Given the description of an element on the screen output the (x, y) to click on. 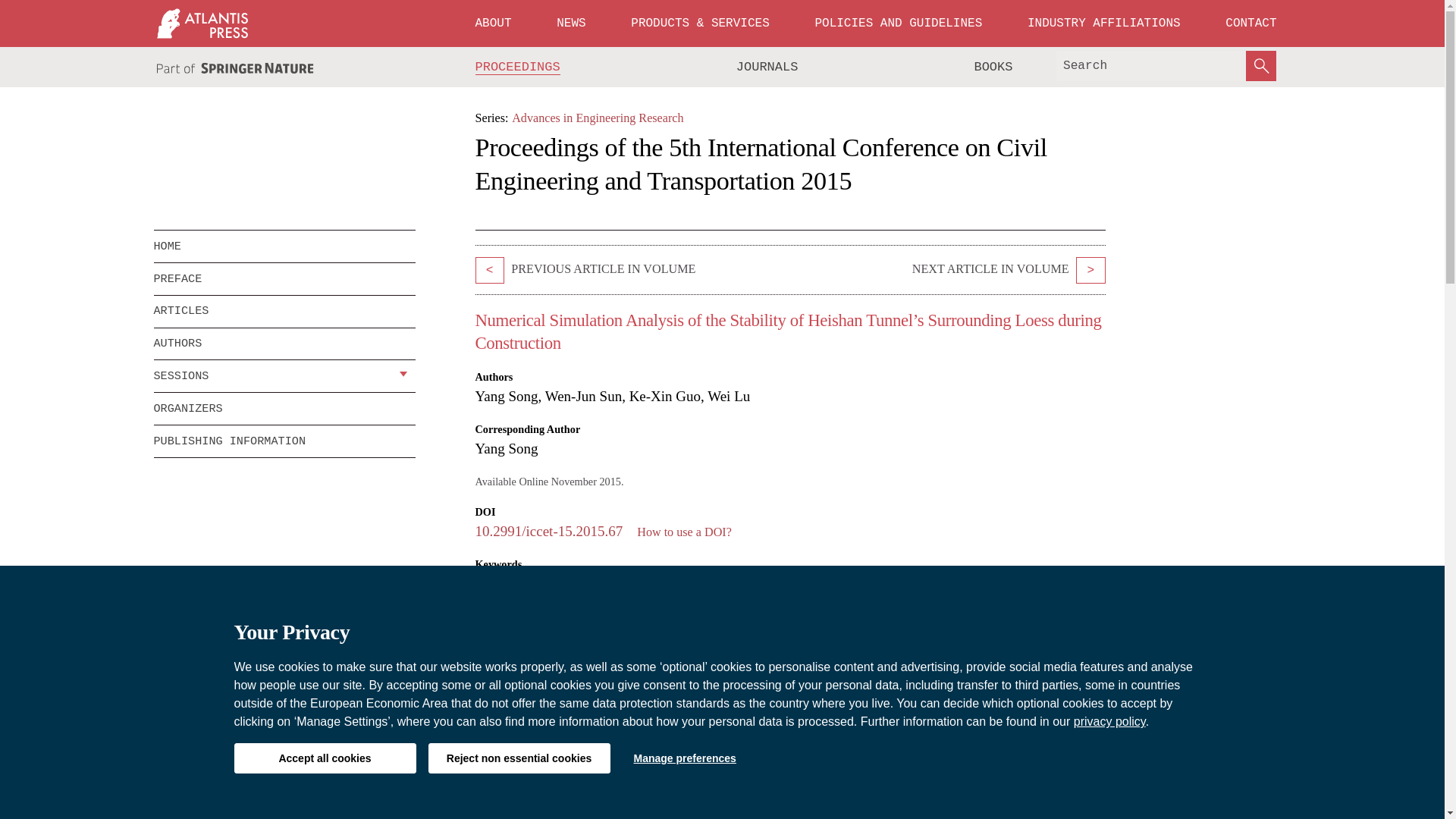
PUBLISHING INFORMATION (283, 441)
How to use a DOI? (684, 531)
PREFACE (283, 278)
ARTICLES (283, 311)
BOOKS (992, 66)
ABOUT (493, 23)
HOME (283, 246)
POLICIES AND GUIDELINES (897, 23)
NEWS (570, 23)
CONTACT (1250, 23)
